Given the description of an element on the screen output the (x, y) to click on. 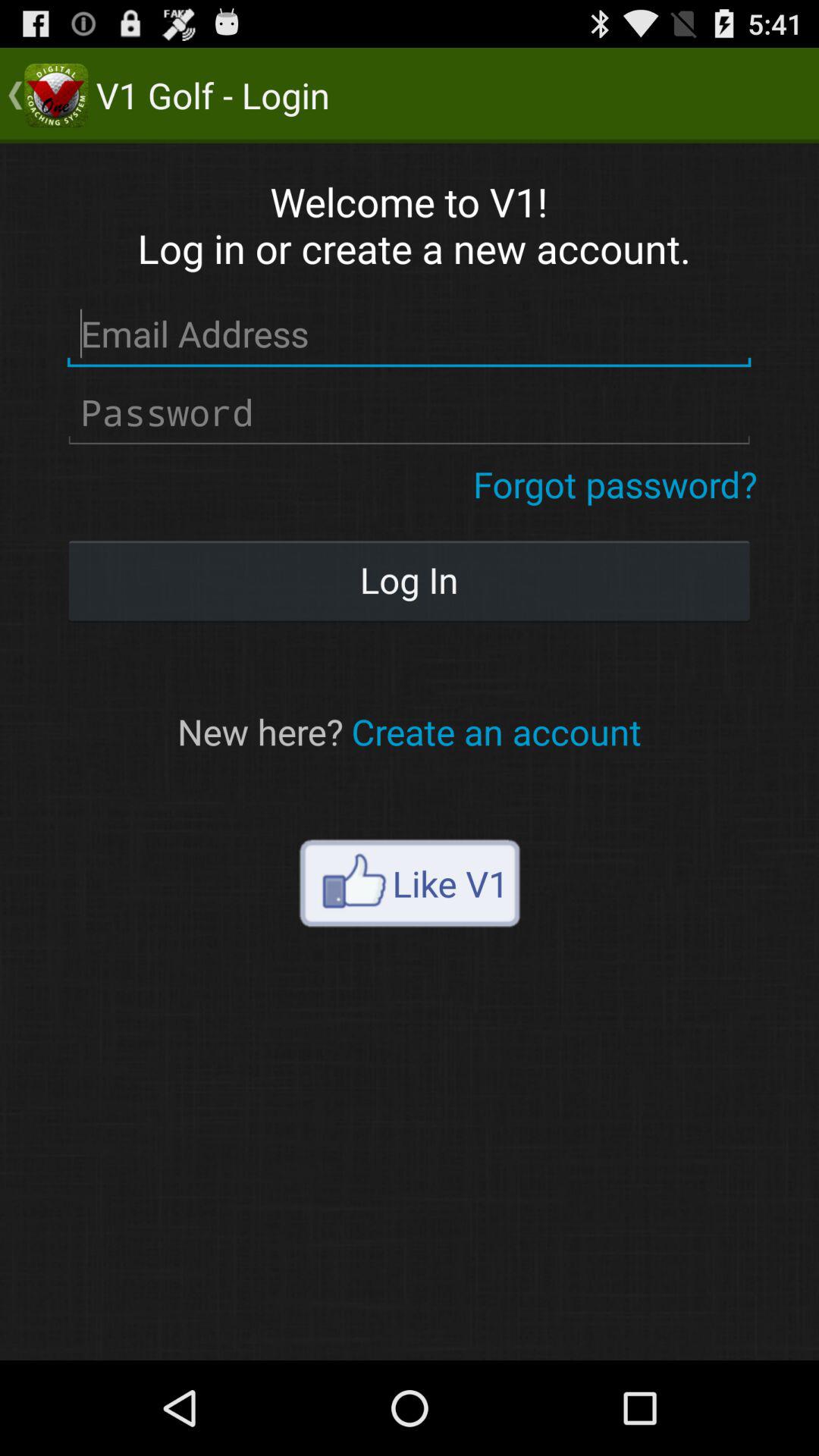
input your email address (408, 334)
